Given the description of an element on the screen output the (x, y) to click on. 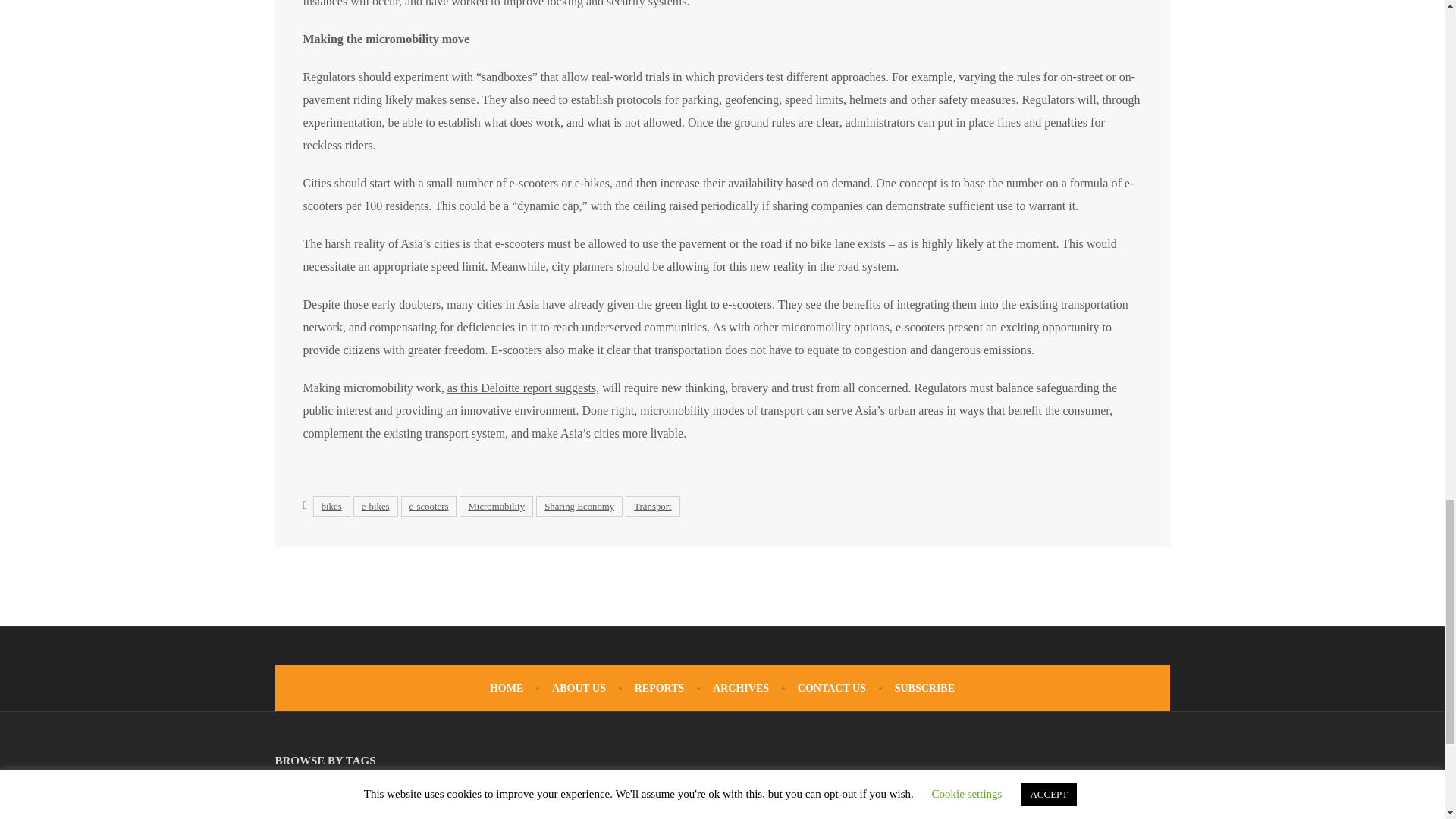
e-bikes (375, 506)
bikes (331, 506)
REPORTS (659, 687)
ARCHIVES (740, 687)
Transport (652, 506)
Sharing Economy (579, 506)
SUBSCRIBE (925, 687)
ABOUT US (578, 687)
CONTACT US (831, 687)
HOME (505, 687)
